Given the description of an element on the screen output the (x, y) to click on. 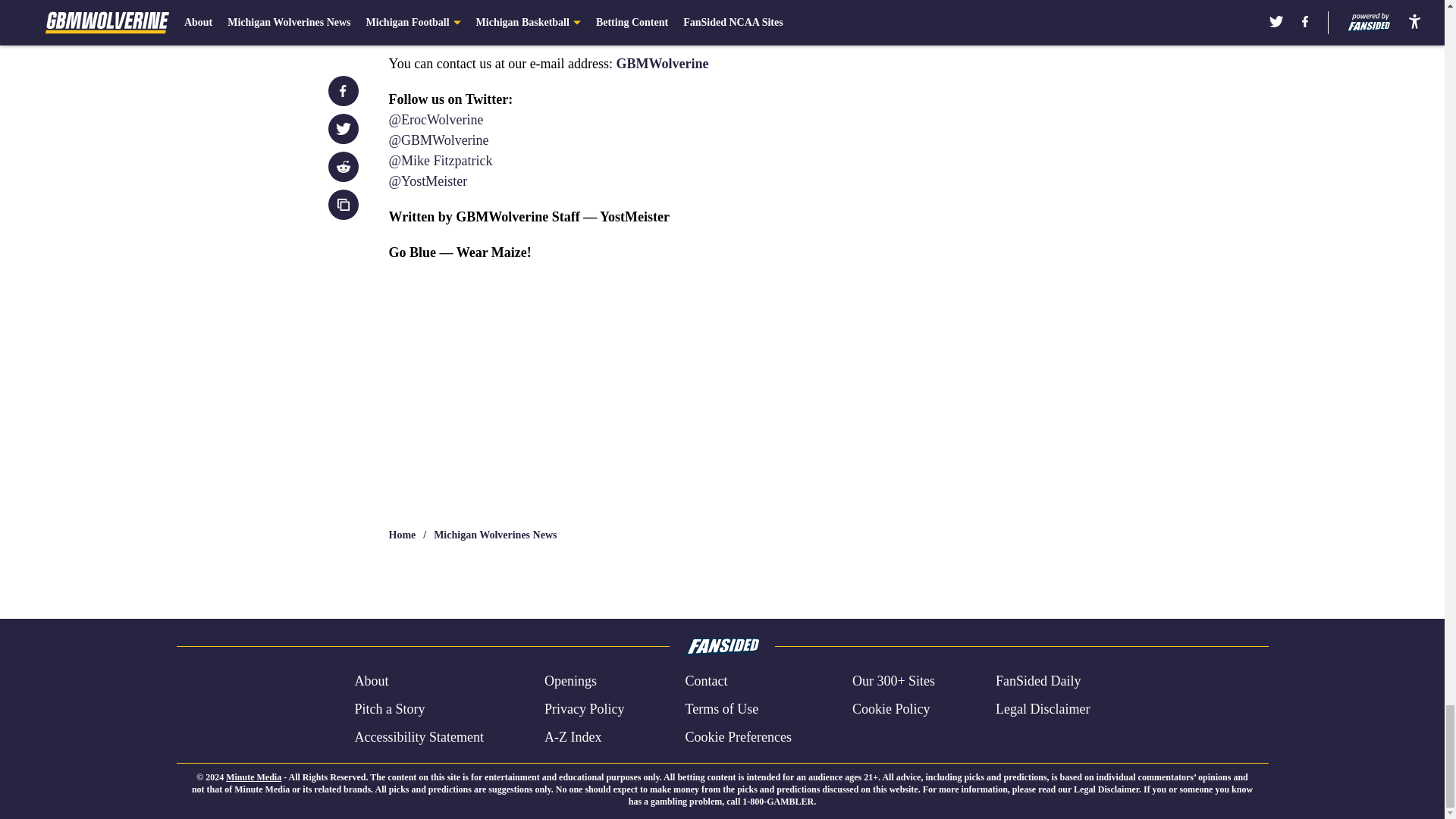
About (370, 680)
GBMWolverine (662, 63)
Openings (570, 680)
Michigan Wolverines News (494, 534)
Contact (705, 680)
FanSided Daily (1038, 680)
Home (401, 534)
